Given the description of an element on the screen output the (x, y) to click on. 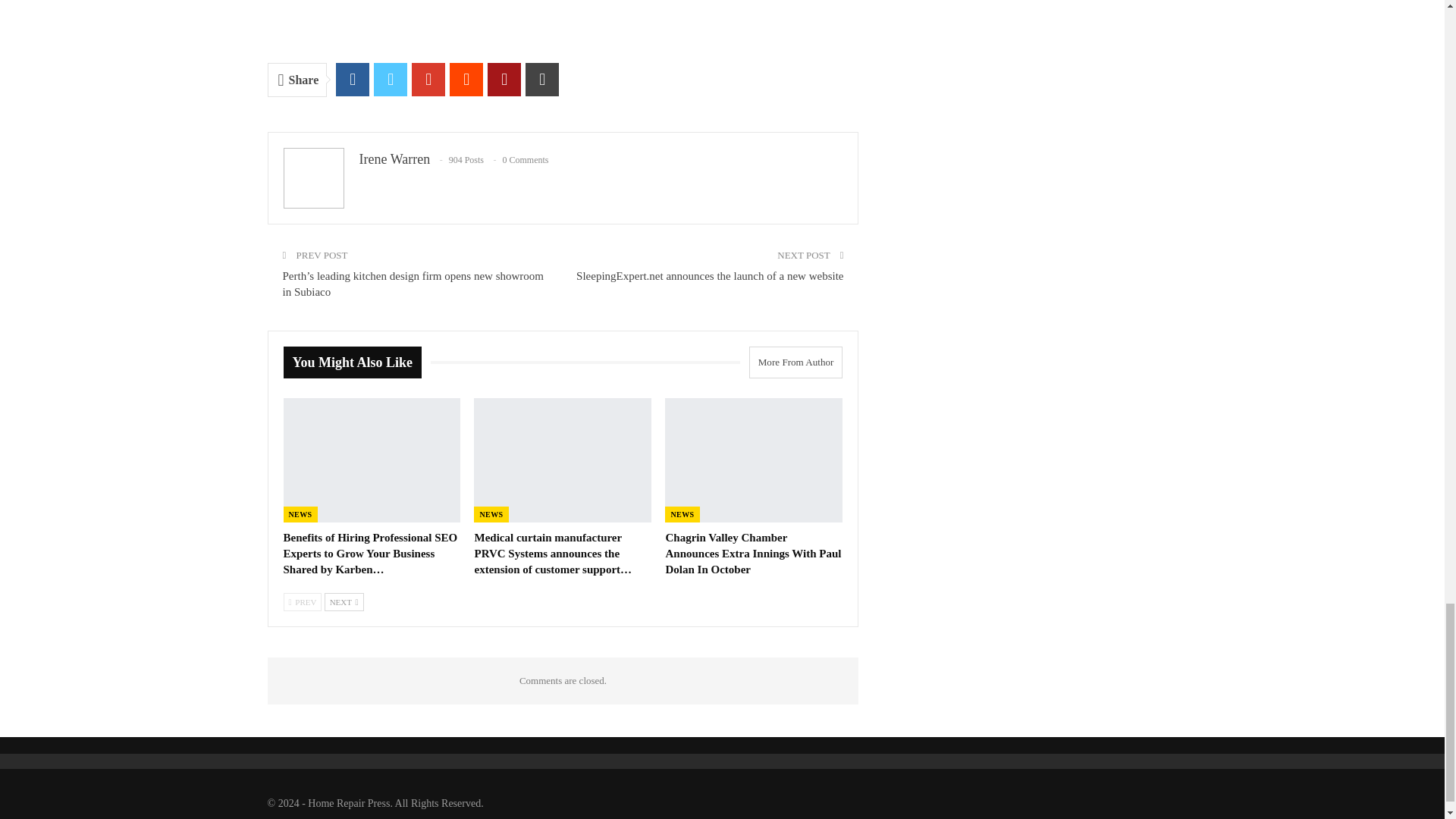
Next (344, 601)
Previous (302, 601)
